Given the description of an element on the screen output the (x, y) to click on. 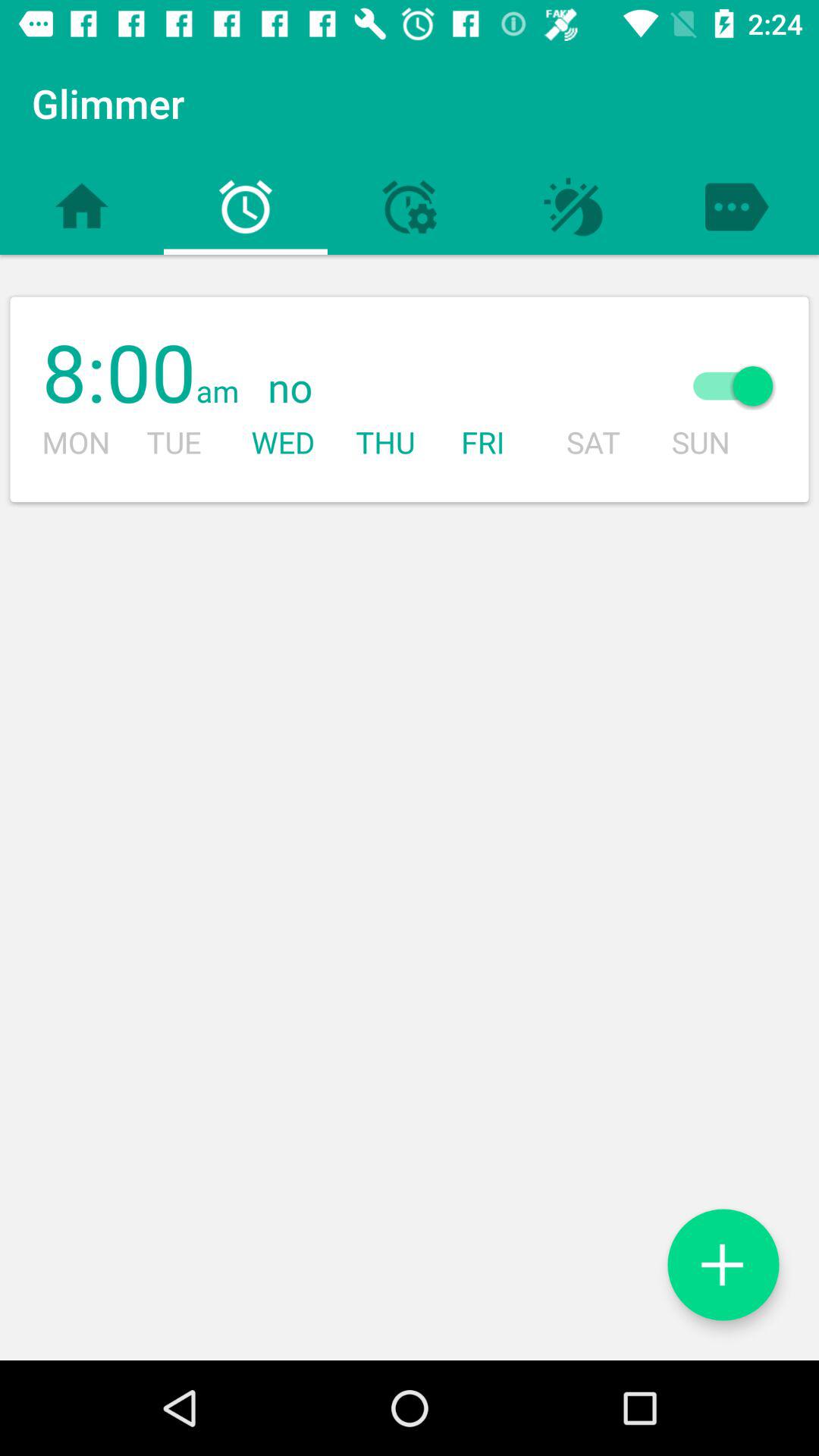
turn off the icon to the left of the sun icon (443, 388)
